Given the description of an element on the screen output the (x, y) to click on. 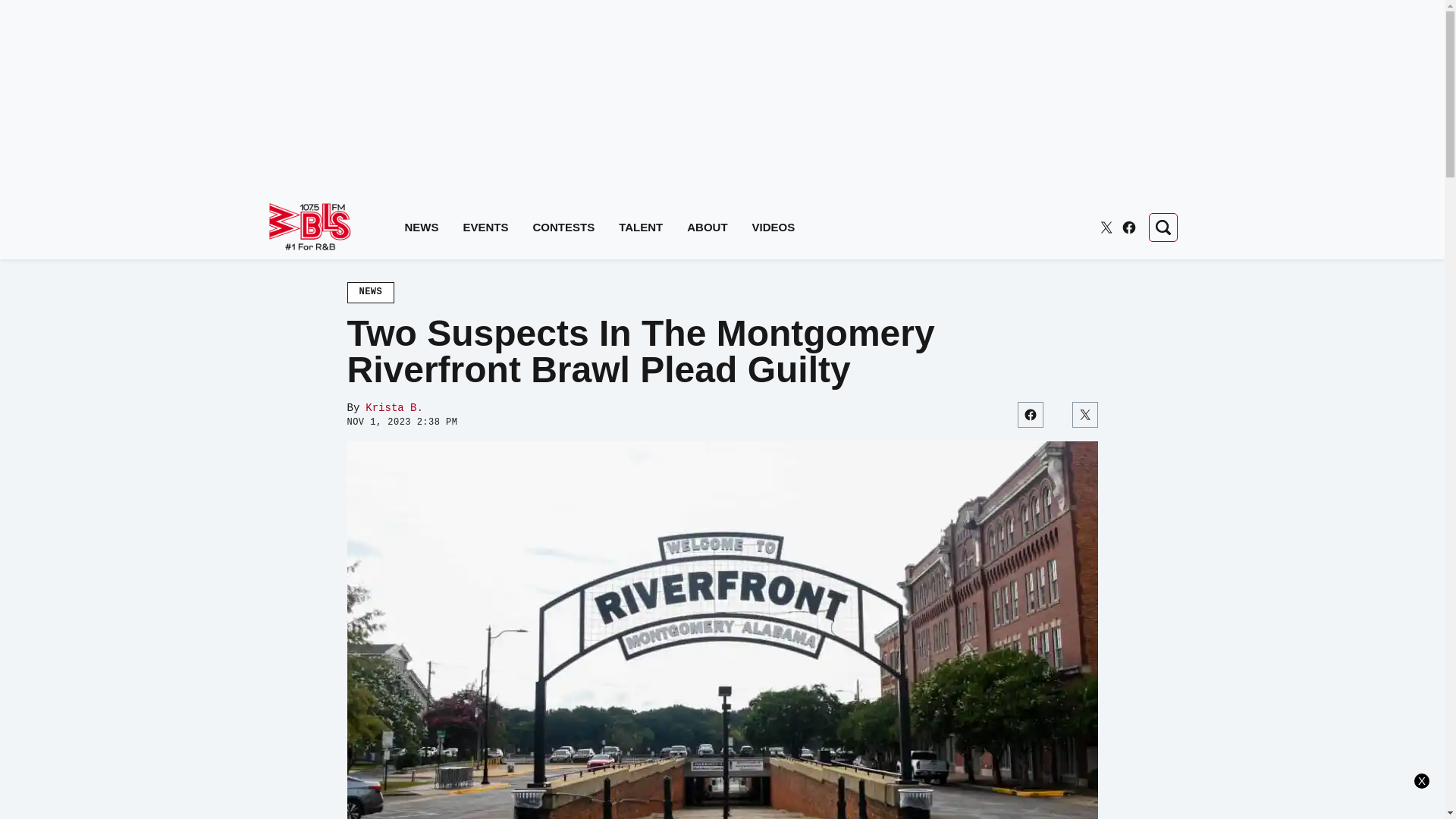
NEWS (370, 292)
NEWS (421, 227)
Search (1162, 226)
Posts by Krista B. (394, 408)
Facebook (1128, 227)
EVENTS (485, 227)
X (1105, 227)
ABOUT (706, 227)
CONTESTS (563, 227)
TALENT (640, 227)
